Given the description of an element on the screen output the (x, y) to click on. 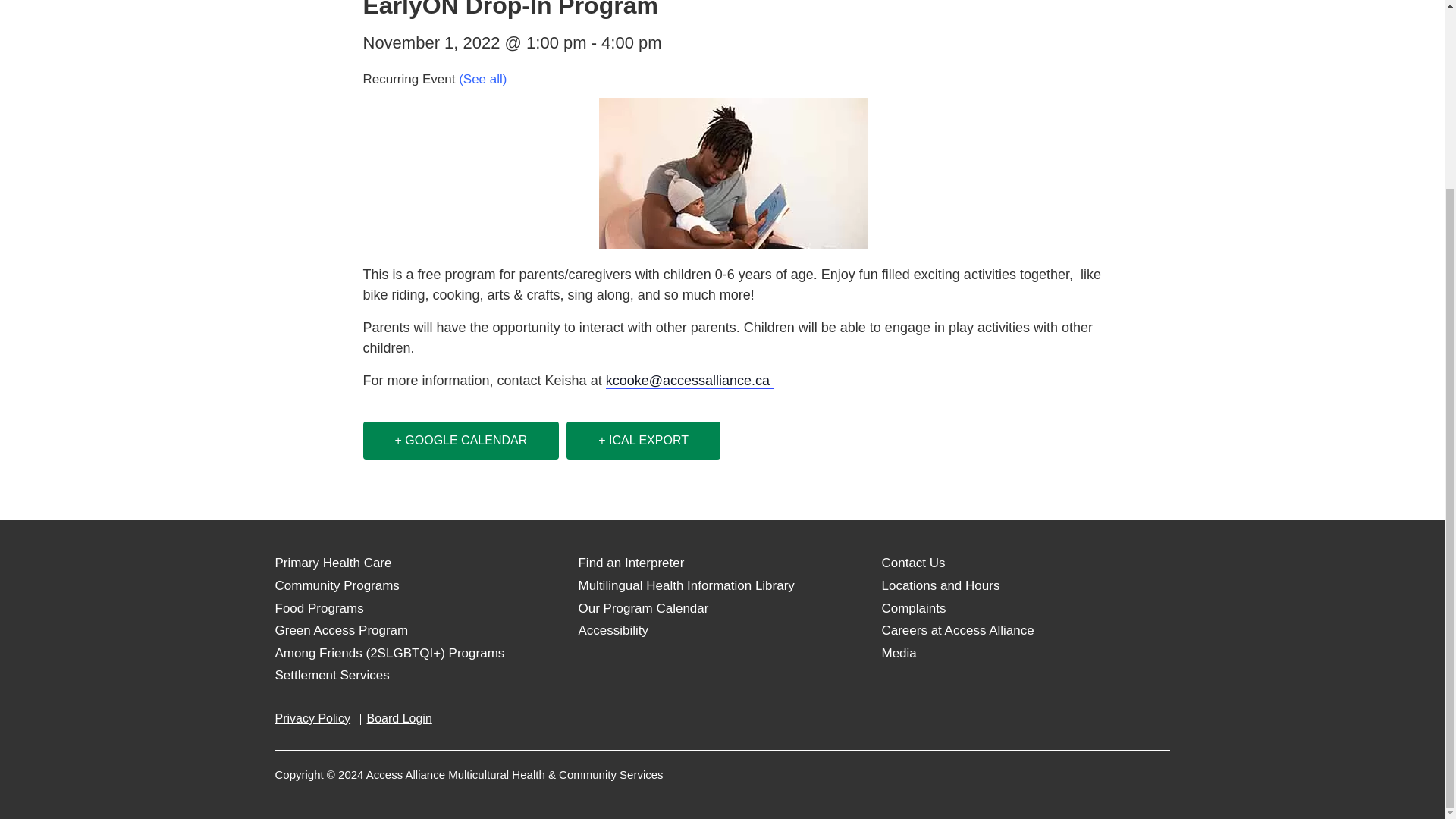
Add to Google Calendar (460, 440)
